Given the description of an element on the screen output the (x, y) to click on. 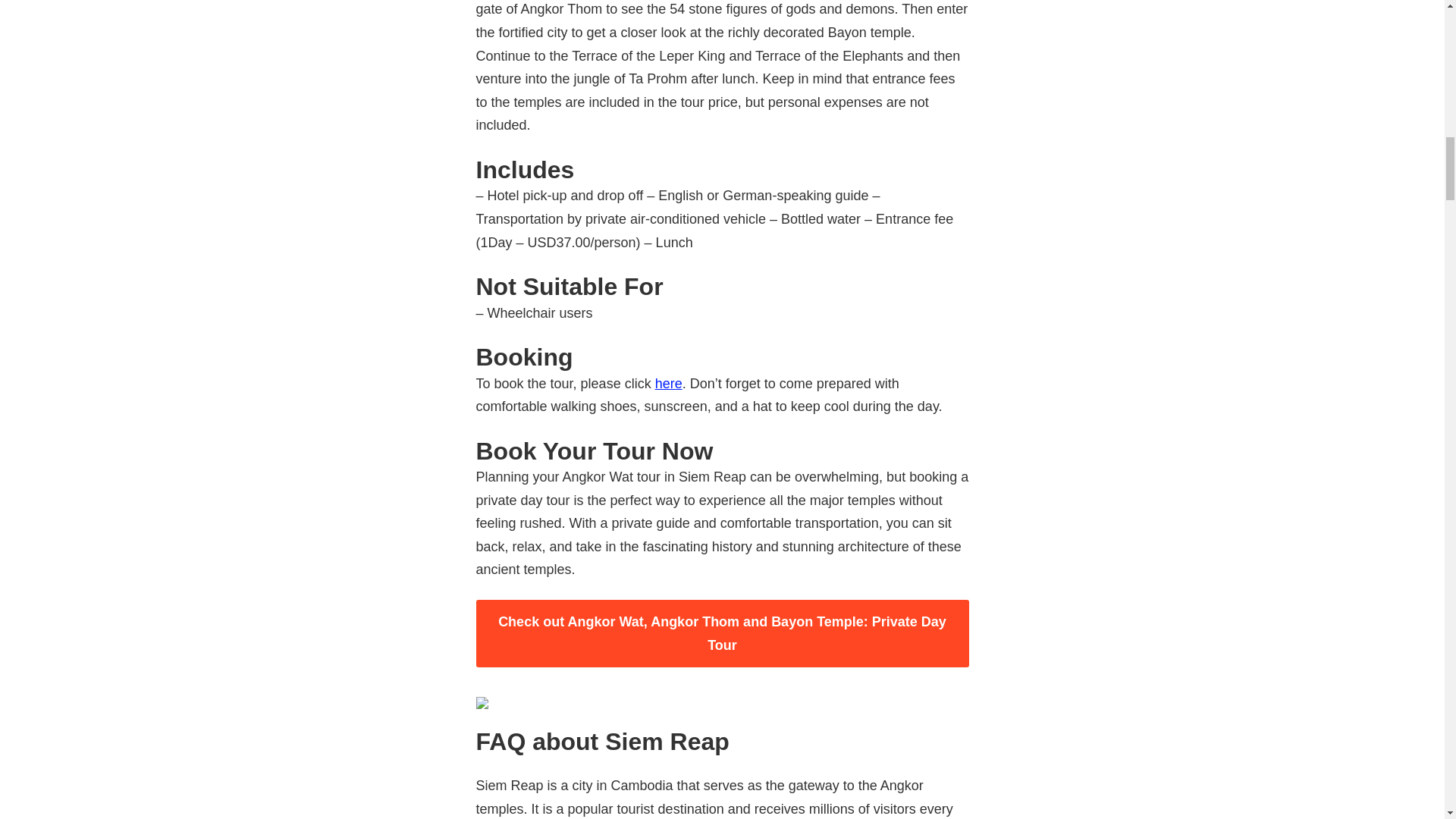
here (668, 383)
